Given the description of an element on the screen output the (x, y) to click on. 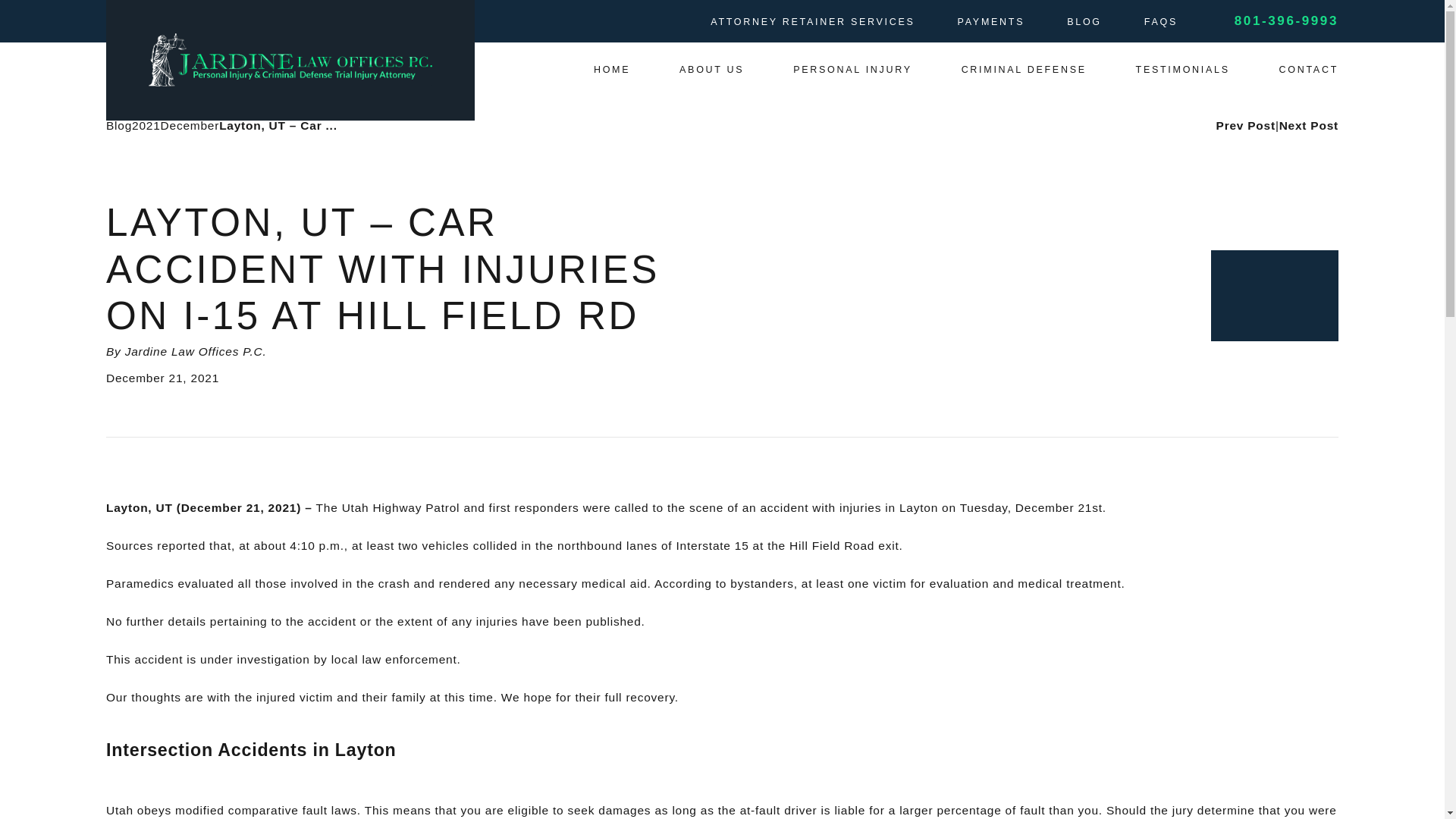
PERSONAL INJURY (852, 69)
FAQS (1160, 21)
801-396-9993 (1286, 21)
BLOG (1084, 21)
ABOUT US (711, 69)
HOME (612, 69)
PAYMENTS (991, 21)
CRIMINAL DEFENSE (1023, 69)
ATTORNEY RETAINER SERVICES (812, 21)
Open the accessibility options menu (31, 786)
Jardine Law Offices P.C. (290, 59)
